Given the description of an element on the screen output the (x, y) to click on. 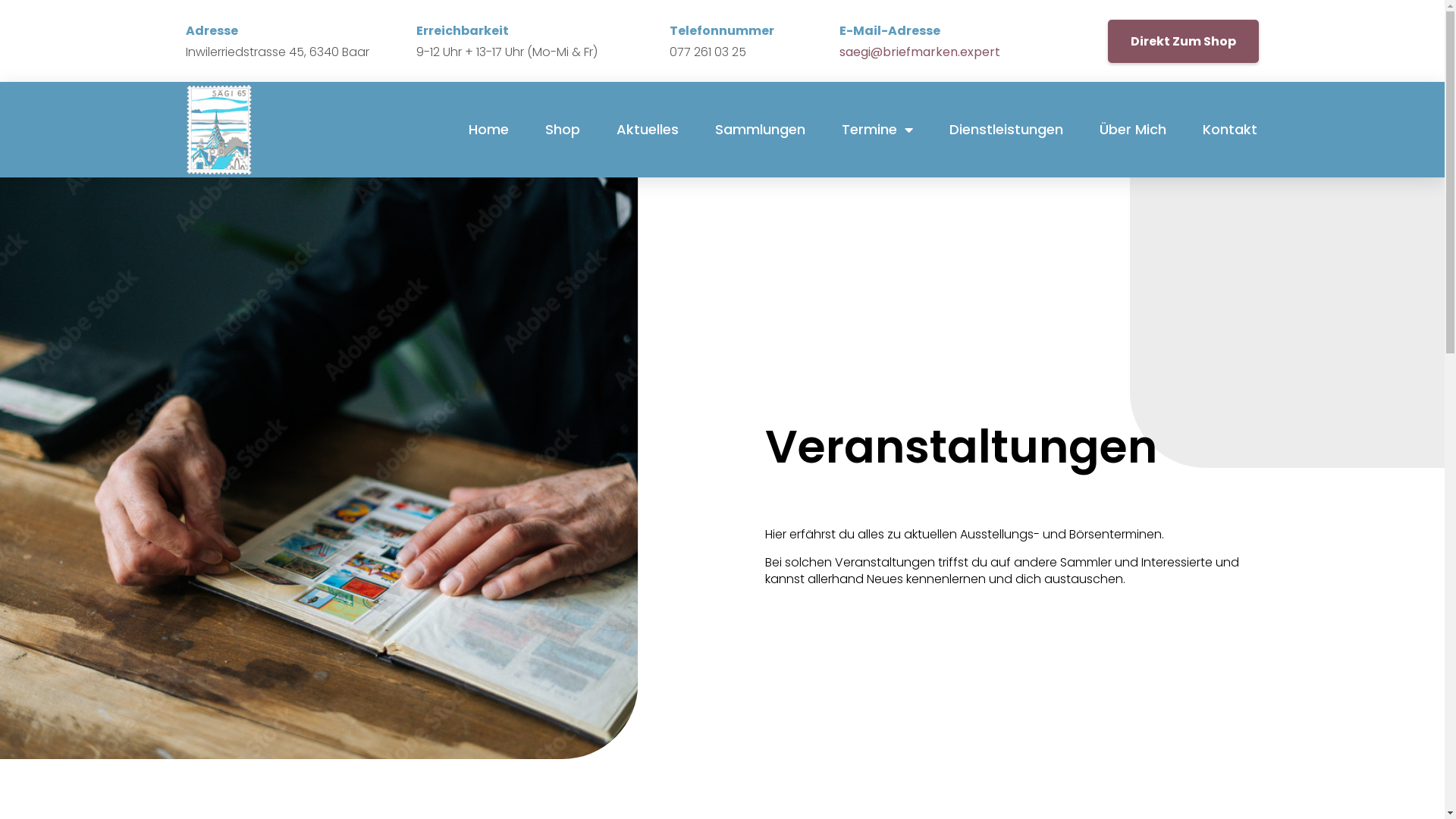
Termine Element type: text (877, 129)
Aktuelles Element type: text (647, 129)
Dienstleistungen Element type: text (1006, 129)
Shop Element type: text (562, 129)
Direkt Zum Shop Element type: text (1182, 40)
Home Element type: text (488, 129)
saegi@briefmarken.expert Element type: text (919, 50)
Kontakt Element type: text (1229, 129)
Sammlungen Element type: text (760, 129)
